Given the description of an element on the screen output the (x, y) to click on. 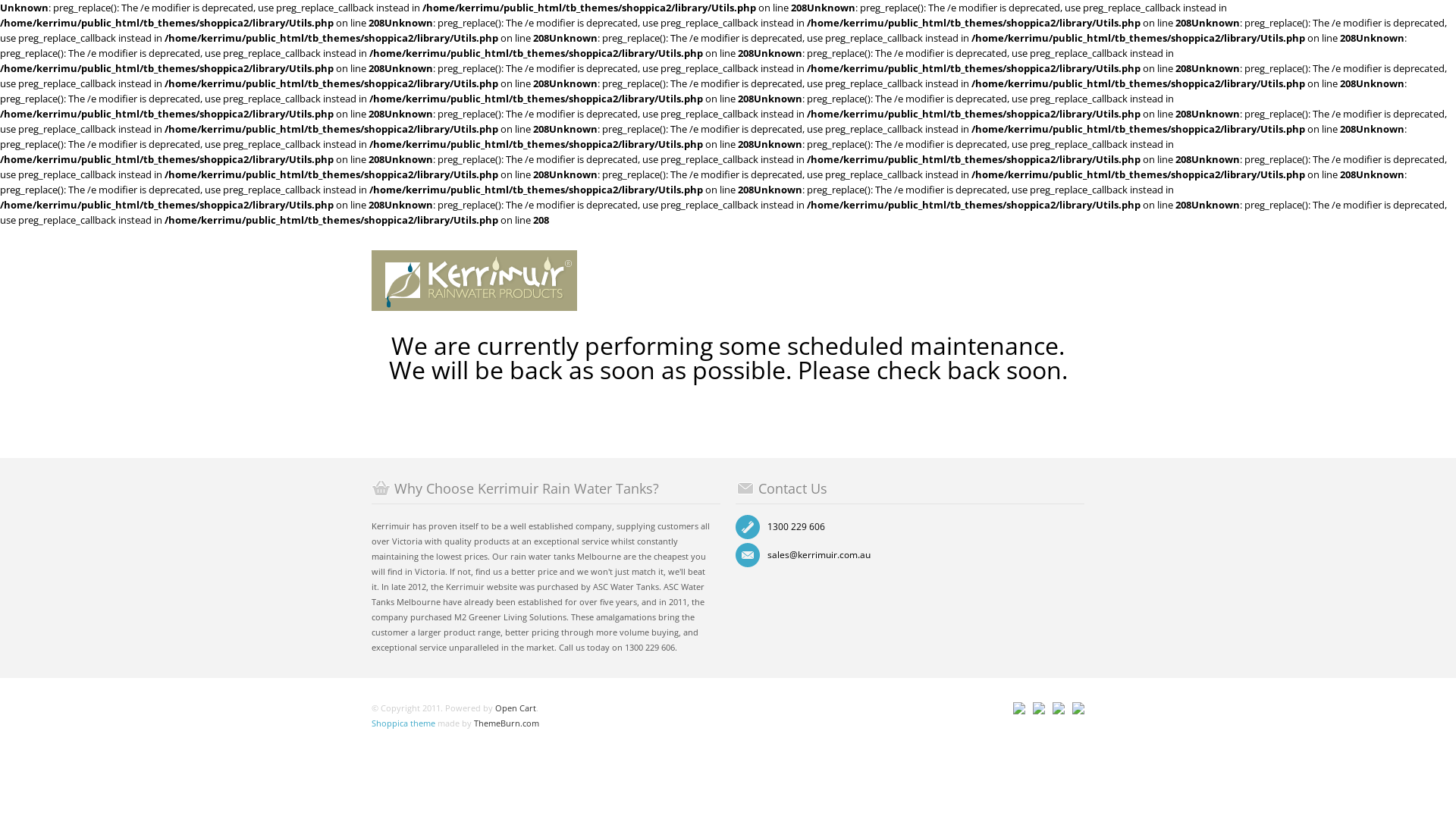
Shoppica theme Element type: text (403, 722)
ThemeBurn.com Element type: text (506, 722)
Open Cart Element type: text (515, 707)
